Given the description of an element on the screen output the (x, y) to click on. 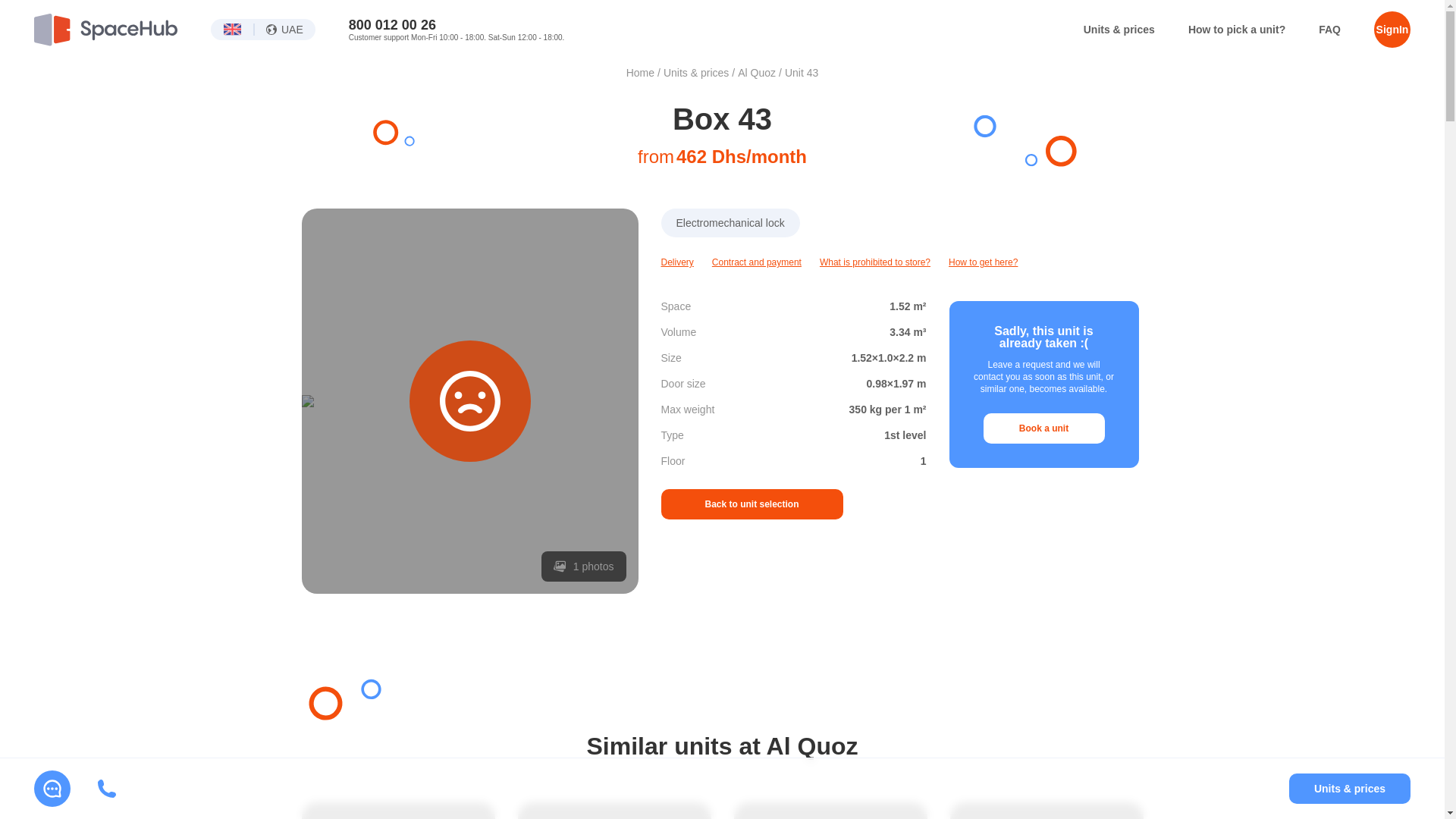
FAQ (1329, 29)
Home (639, 72)
Contract and payment (756, 262)
Home (639, 72)
Al Quoz (757, 72)
How to get here? (983, 262)
Book a unit (1042, 428)
What is prohibited to store? (874, 262)
How to pick a unit? (1236, 29)
Al Quoz (757, 72)
800 012 00 26 (392, 24)
Delivery (677, 262)
Back to unit selection (752, 503)
